Given the description of an element on the screen output the (x, y) to click on. 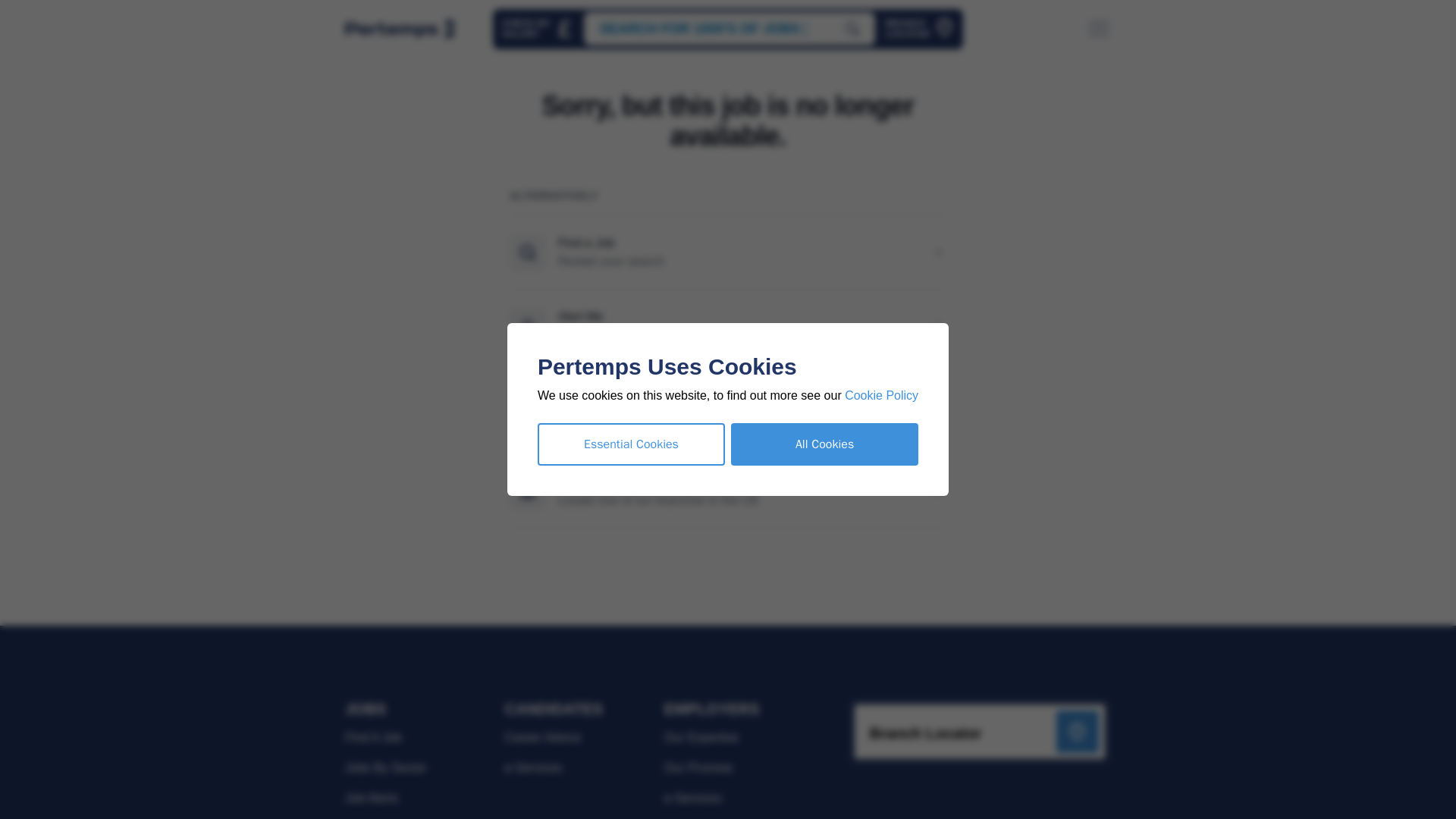
Essential Cookies (631, 444)
Go to Branch Locator (537, 28)
Cookie Policy (919, 28)
Go to Salary Health Checker (919, 28)
All Cookies (881, 395)
Go to Job Search (537, 28)
Open Navigation (824, 444)
Home (729, 28)
